Given the description of an element on the screen output the (x, y) to click on. 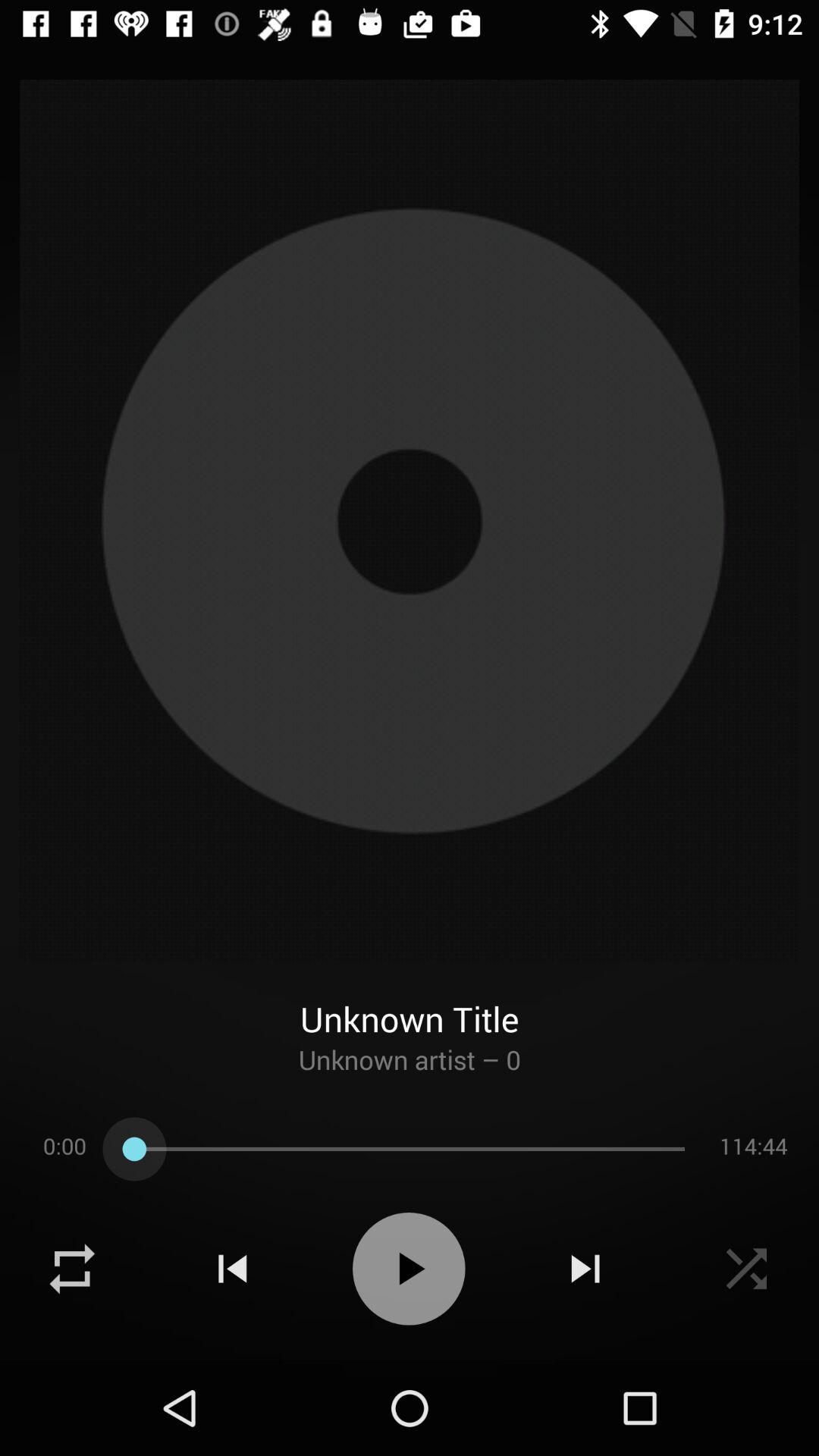
turn on icon below unknown title item (409, 1073)
